Given the description of an element on the screen output the (x, y) to click on. 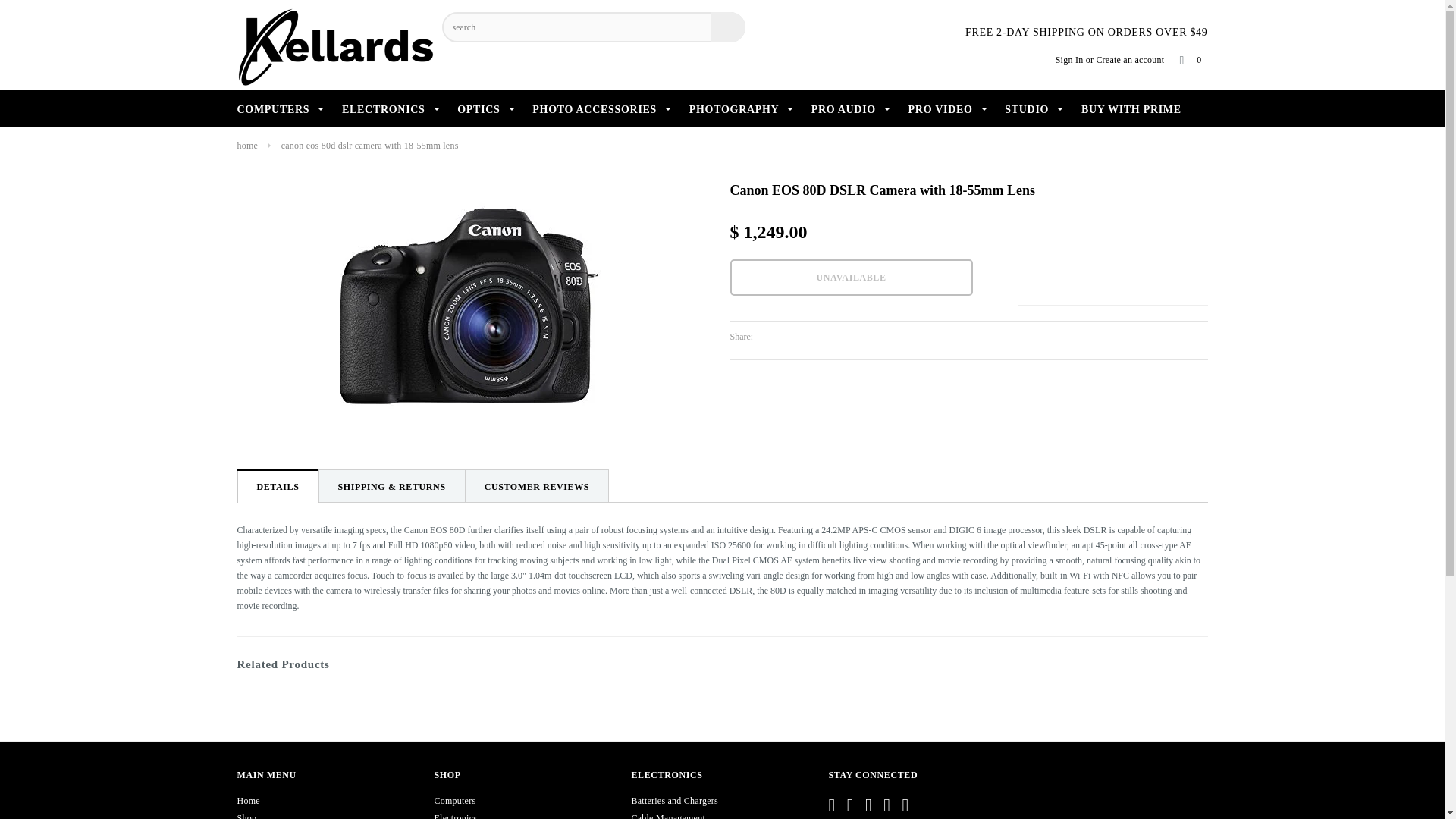
Sign In (1069, 59)
OPTICS (486, 109)
Back to the frontpage (246, 145)
COMPUTERS (279, 109)
Create an account (1129, 59)
Unavailable (850, 277)
ELECTRONICS (390, 109)
0 (1196, 59)
